Given the description of an element on the screen output the (x, y) to click on. 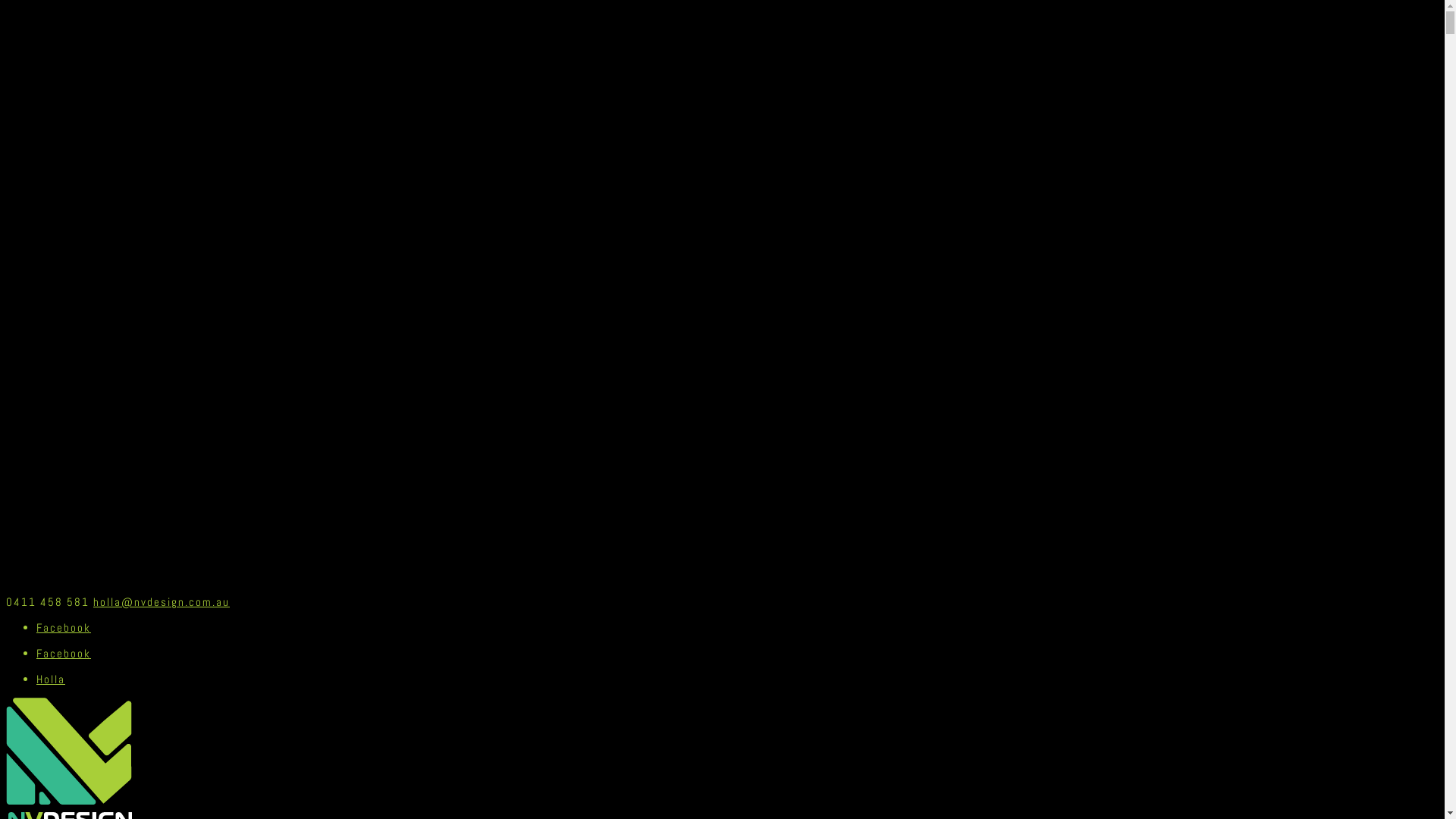
holla@nvdesign.com.au Element type: text (161, 601)
Facebook Element type: text (63, 653)
Holla Element type: text (50, 678)
Facebook Element type: text (63, 627)
